Given the description of an element on the screen output the (x, y) to click on. 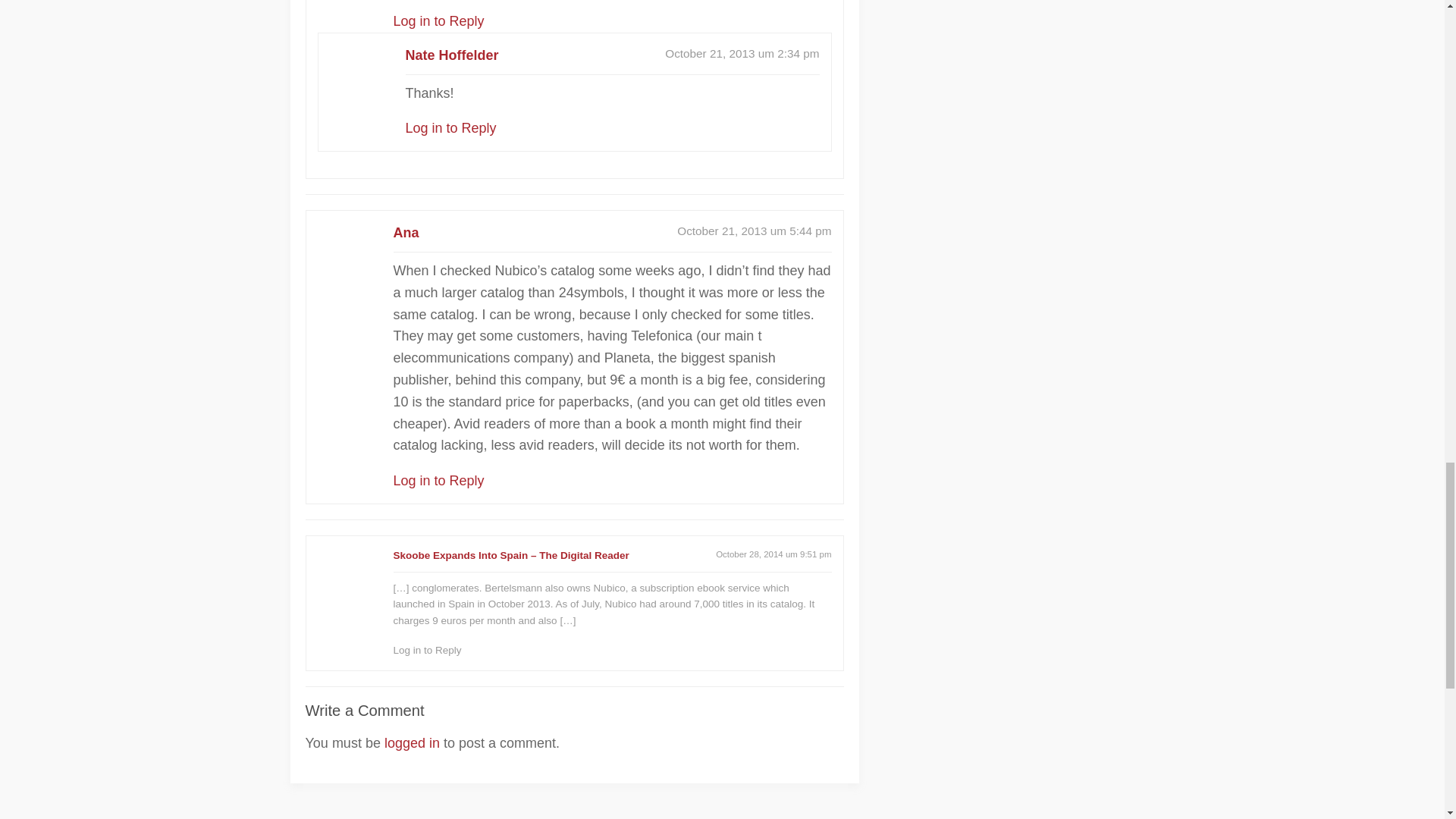
Log in to Reply (427, 650)
Log in to Reply (438, 20)
logged in (411, 743)
Log in to Reply (438, 480)
Log in to Reply (450, 127)
